Given the description of an element on the screen output the (x, y) to click on. 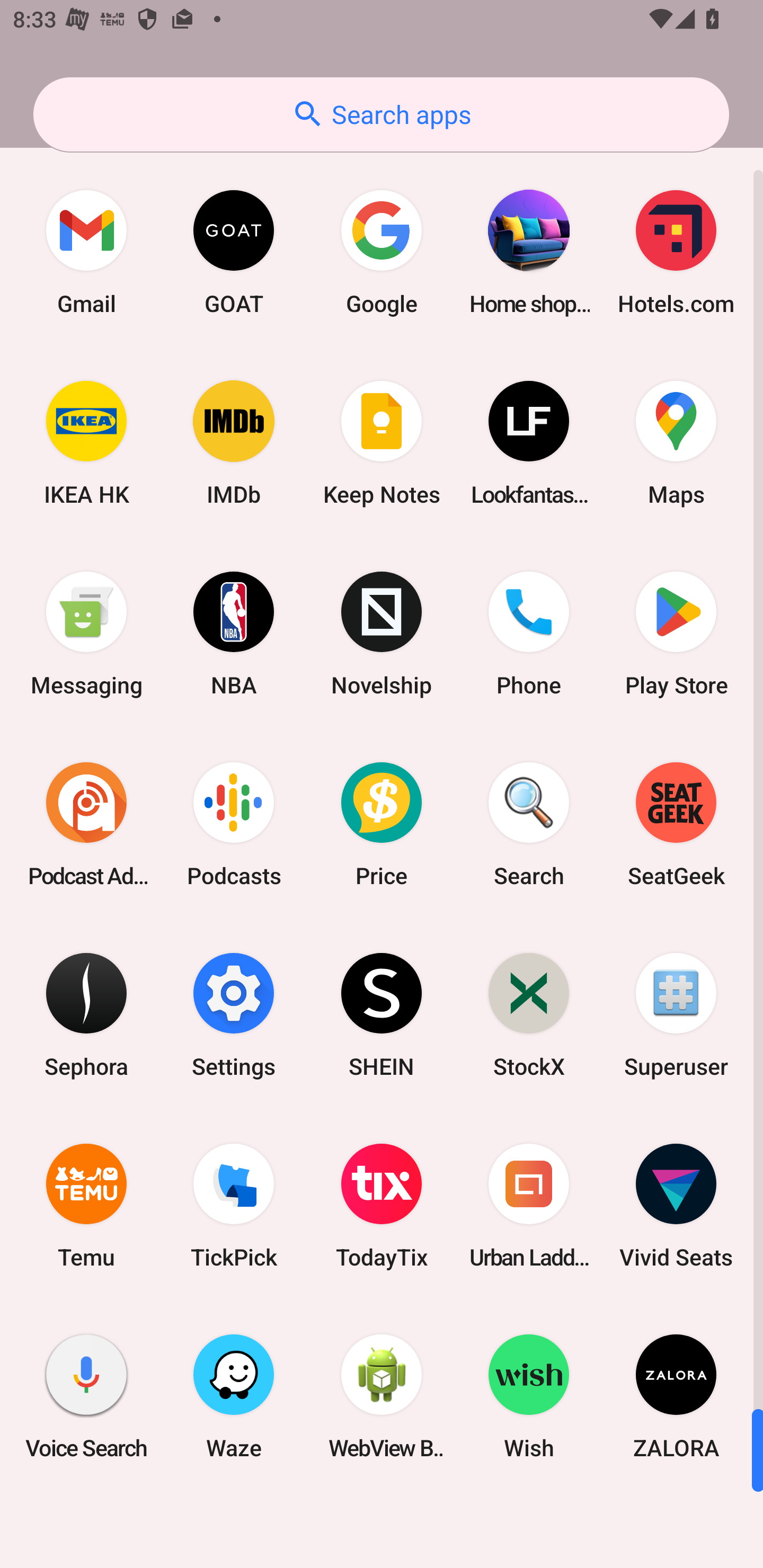
  Search apps (381, 114)
Gmail (86, 252)
GOAT (233, 252)
Google (381, 252)
Home shopping (528, 252)
Hotels.com (676, 252)
IKEA HK (86, 442)
IMDb (233, 442)
Keep Notes (381, 442)
Lookfantastic (528, 442)
Maps (676, 442)
Messaging (86, 633)
NBA (233, 633)
Novelship (381, 633)
Phone (528, 633)
Play Store (676, 633)
Podcast Addict (86, 823)
Podcasts (233, 823)
Price (381, 823)
Search (528, 823)
SeatGeek (676, 823)
Sephora (86, 1014)
Settings (233, 1014)
SHEIN (381, 1014)
StockX (528, 1014)
Superuser (676, 1014)
Temu (86, 1205)
TickPick (233, 1205)
TodayTix (381, 1205)
Urban Ladder (528, 1205)
Vivid Seats (676, 1205)
Voice Search (86, 1396)
Waze (233, 1396)
WebView Browser Tester (381, 1396)
Wish (528, 1396)
ZALORA (676, 1396)
